Given the description of an element on the screen output the (x, y) to click on. 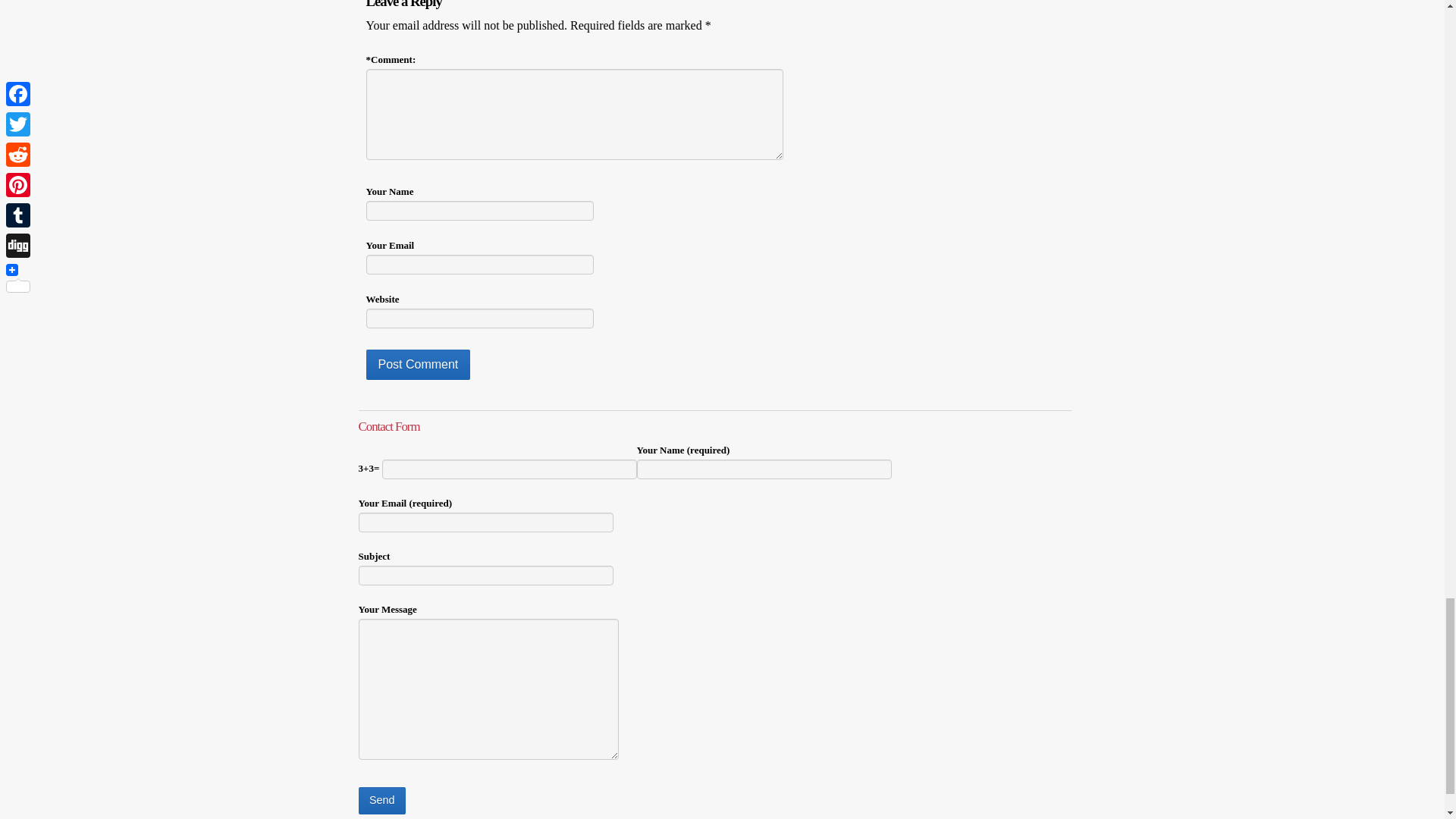
Post Comment (417, 364)
Post Comment (417, 364)
Send (381, 800)
